Given the description of an element on the screen output the (x, y) to click on. 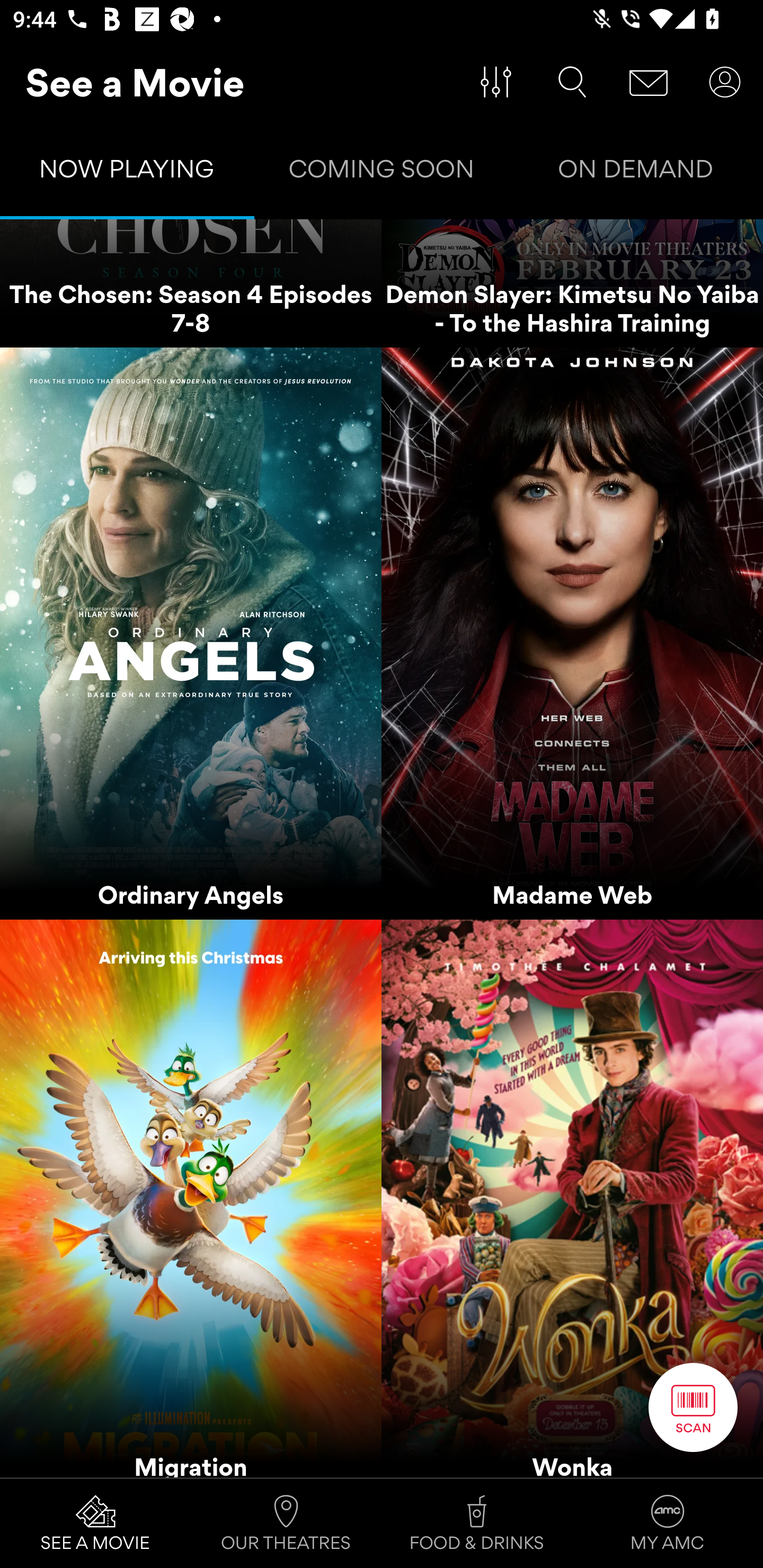
Filter Movies (495, 82)
Search (572, 82)
Message Center (648, 82)
User Account (724, 82)
NOW PLAYING
Tab 1 of 3 (127, 173)
COMING SOON
Tab 2 of 3 (381, 173)
ON DEMAND
Tab 3 of 3 (635, 173)
The Chosen: Season 4 Episodes 7-8 (190, 283)
Ordinary Angels (190, 633)
Madame Web (572, 633)
Migration (190, 1197)
Wonka (572, 1197)
Scan Button (692, 1406)
SEE A MOVIE
Tab 1 of 4 (95, 1523)
OUR THEATRES
Tab 2 of 4 (285, 1523)
FOOD & DRINKS
Tab 3 of 4 (476, 1523)
MY AMC
Tab 4 of 4 (667, 1523)
